Given the description of an element on the screen output the (x, y) to click on. 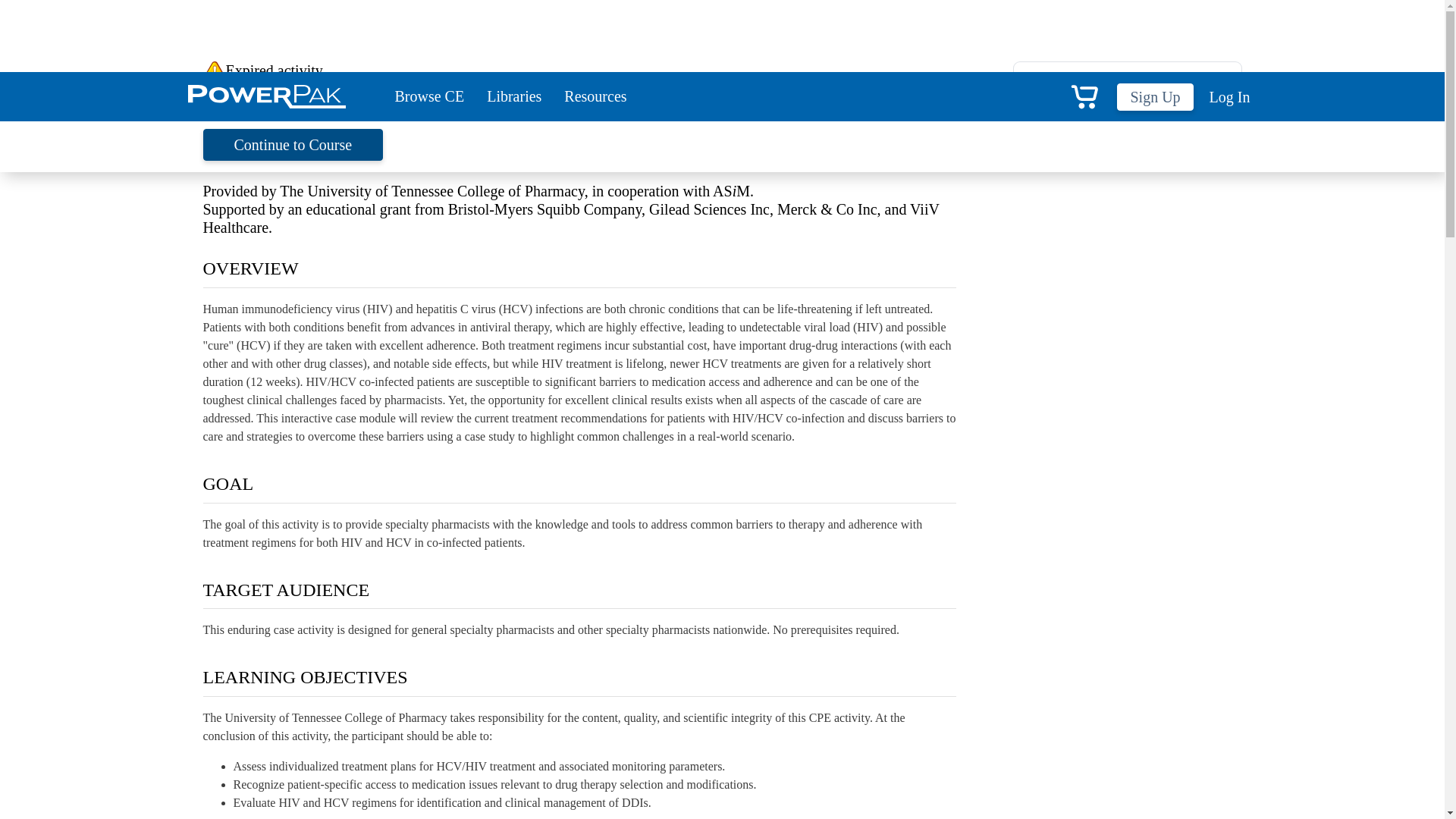
Latest News (1127, 240)
Sign Up (1154, 96)
Log In (1226, 96)
Cart (1083, 96)
Continue to Course (293, 144)
Browse CE (430, 96)
homepage (359, 94)
